Given the description of an element on the screen output the (x, y) to click on. 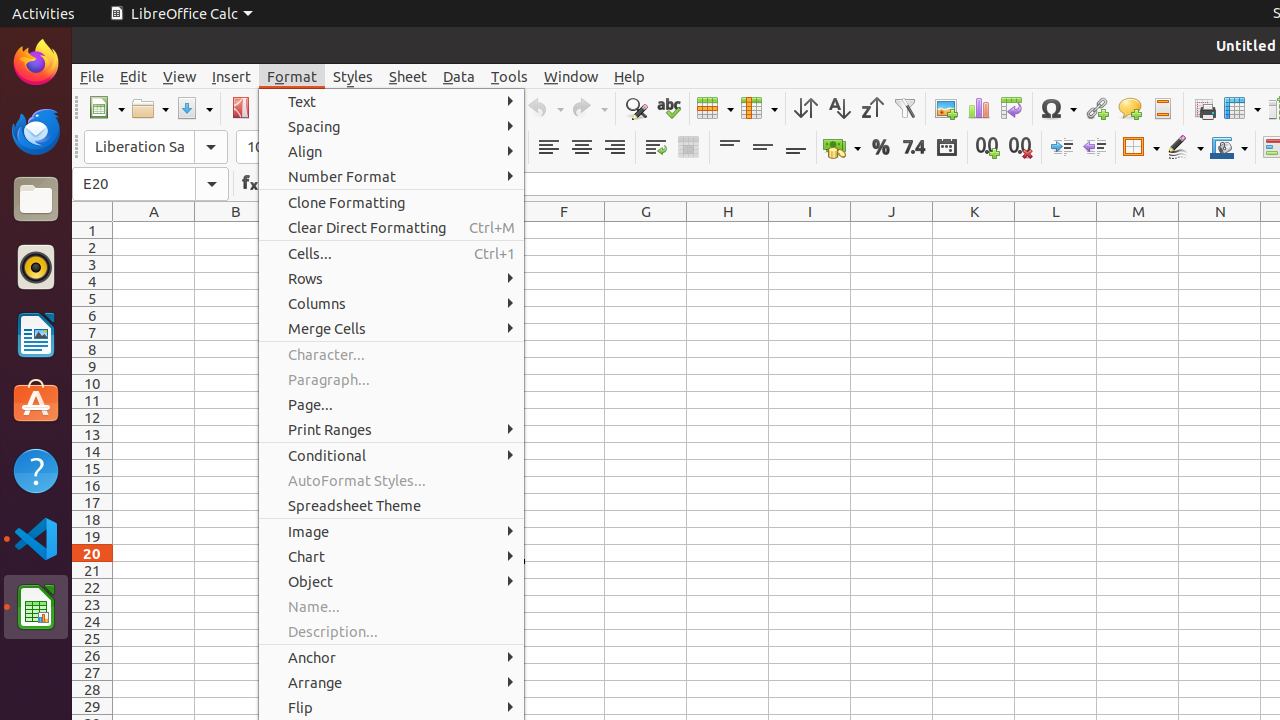
Find & Replace Element type: toggle-button (635, 108)
Align Element type: menu (391, 151)
Currency Element type: push-button (842, 147)
Wrap Text Element type: push-button (655, 147)
Number Element type: push-button (913, 147)
